Given the description of an element on the screen output the (x, y) to click on. 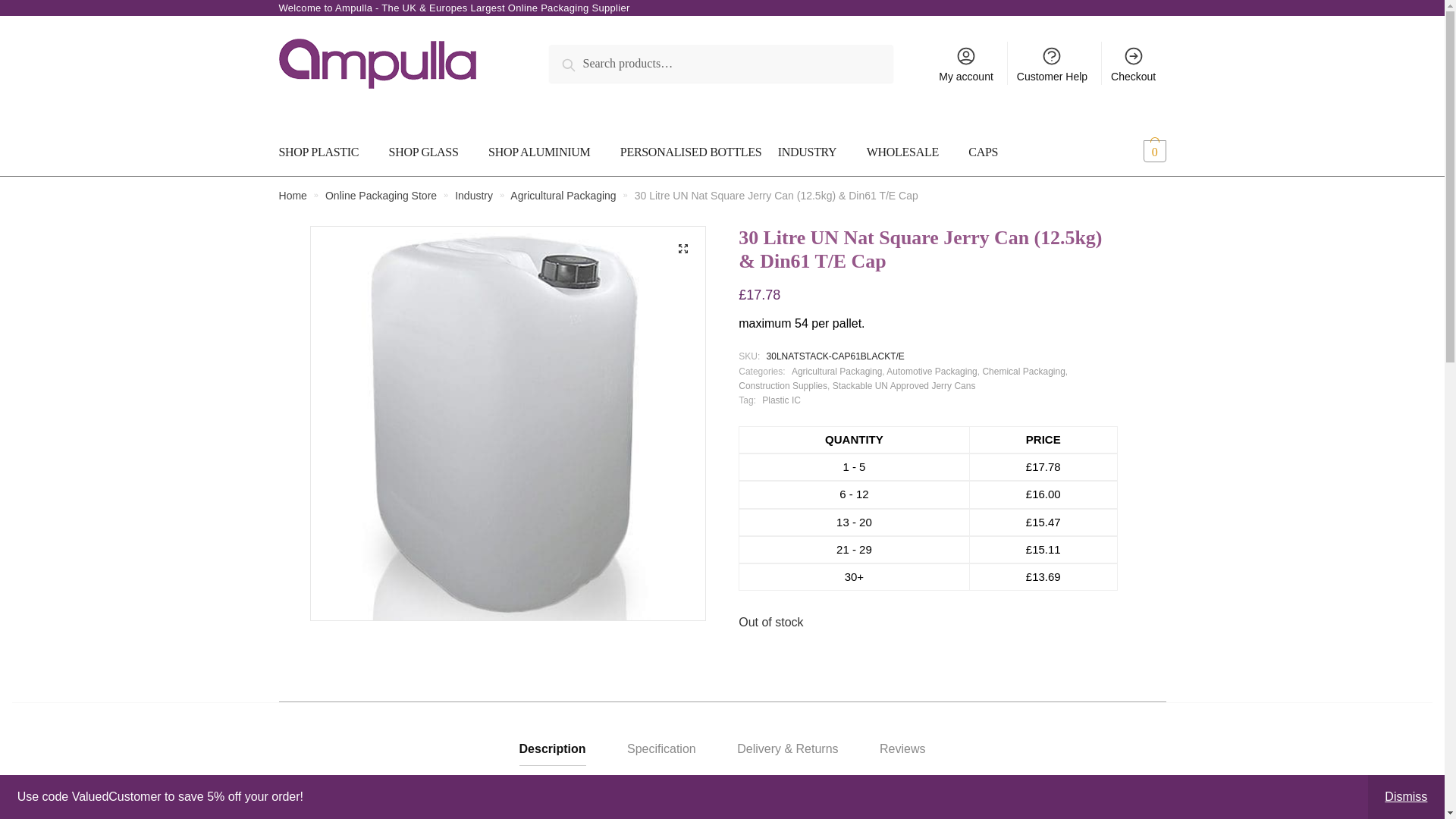
Customer Help (1052, 63)
My account (966, 63)
Checkout (1134, 63)
Search (583, 62)
View your shopping cart (1131, 152)
SHOP PLASTIC (328, 152)
Customer reviews powered by Trustpilot (928, 416)
